Given the description of an element on the screen output the (x, y) to click on. 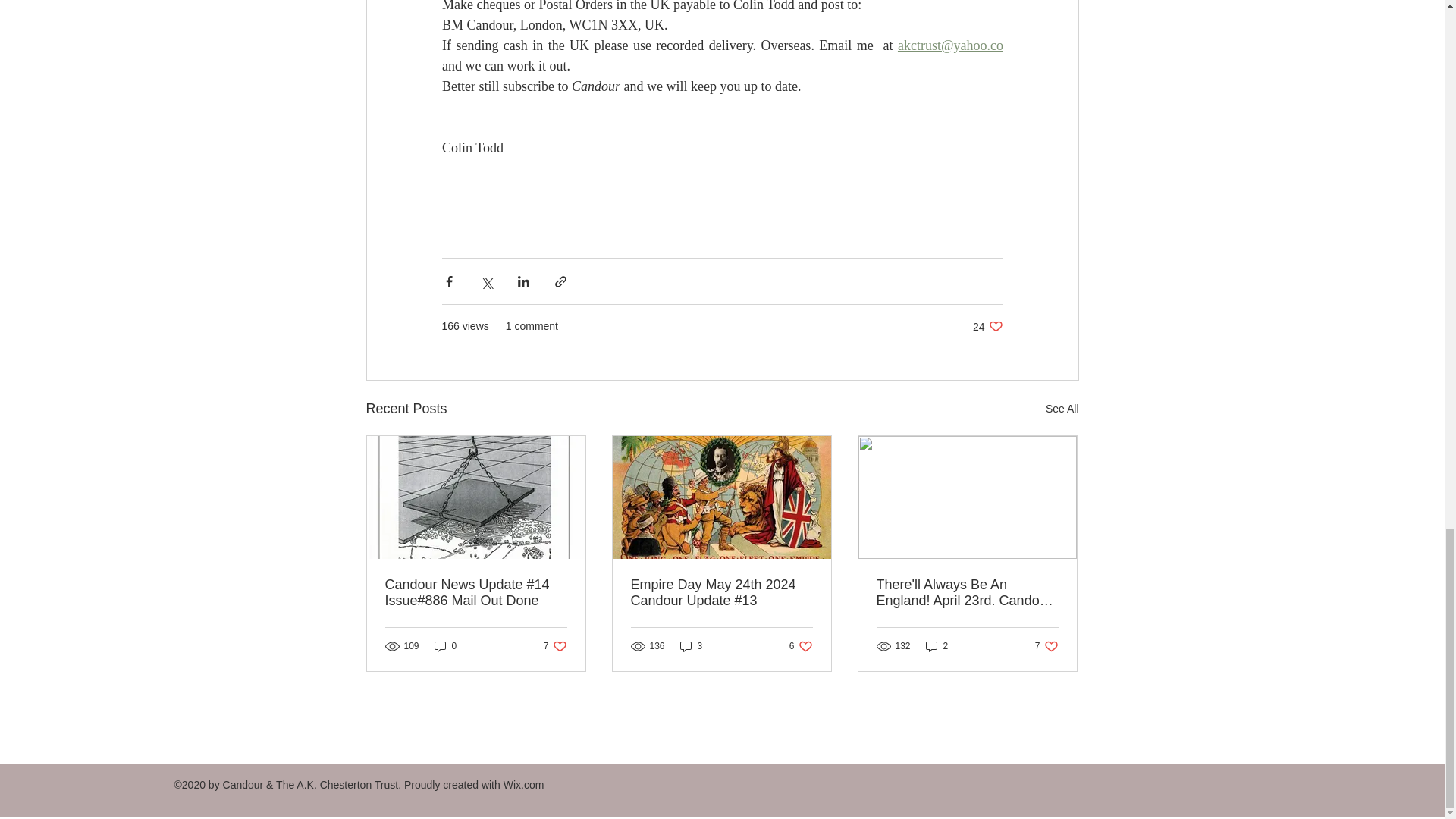
See All (1061, 409)
0 (800, 646)
3 (555, 646)
